Given the description of an element on the screen output the (x, y) to click on. 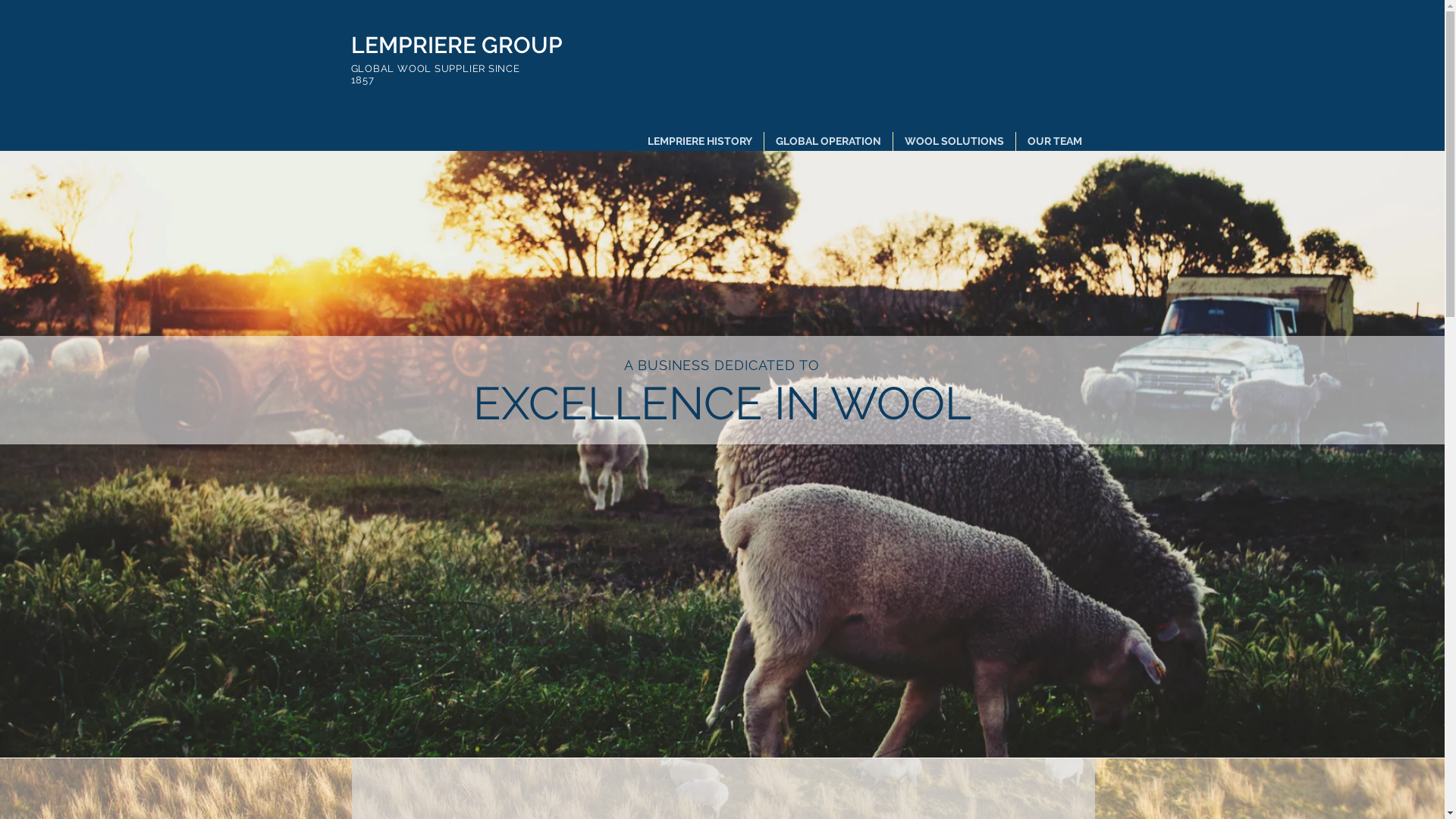
OUR TEAM Element type: text (1054, 140)
GLOBAL WOOL SUPPLIER SINCE 1857 Element type: text (434, 73)
LEMPRIERE GROUP Element type: text (455, 44)
LEMPRIERE HISTORY Element type: text (698, 140)
GLOBAL OPERATION Element type: text (828, 140)
WOOL SOLUTIONS Element type: text (954, 140)
